Given the description of an element on the screen output the (x, y) to click on. 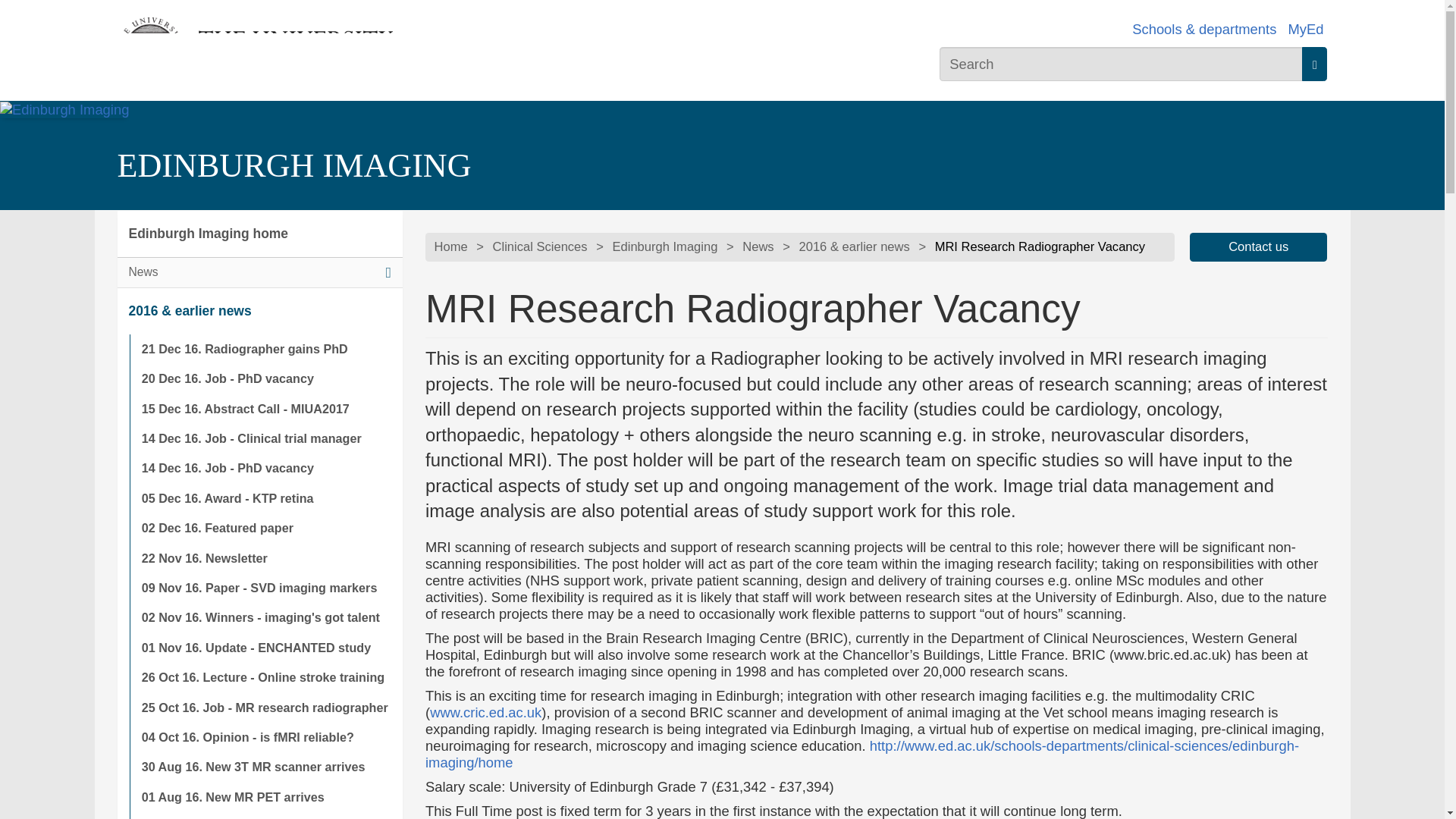
21 Dec 16. Radiographer gains PhD (266, 348)
MyEd (1305, 28)
26 Oct 16. Lecture - Online stroke training (266, 677)
01 Nov 16. Update - ENCHANTED study (266, 647)
22 Nov 16. Newsletter (266, 558)
27 Jul 16. Job - MR superintendent (266, 815)
EDINBURGH IMAGING (293, 165)
02 Dec 16. Featured paper (266, 527)
20 Dec 16. Job - PhD vacancy (266, 378)
09 Nov 16. Paper - SVD imaging markers (266, 587)
